Given the description of an element on the screen output the (x, y) to click on. 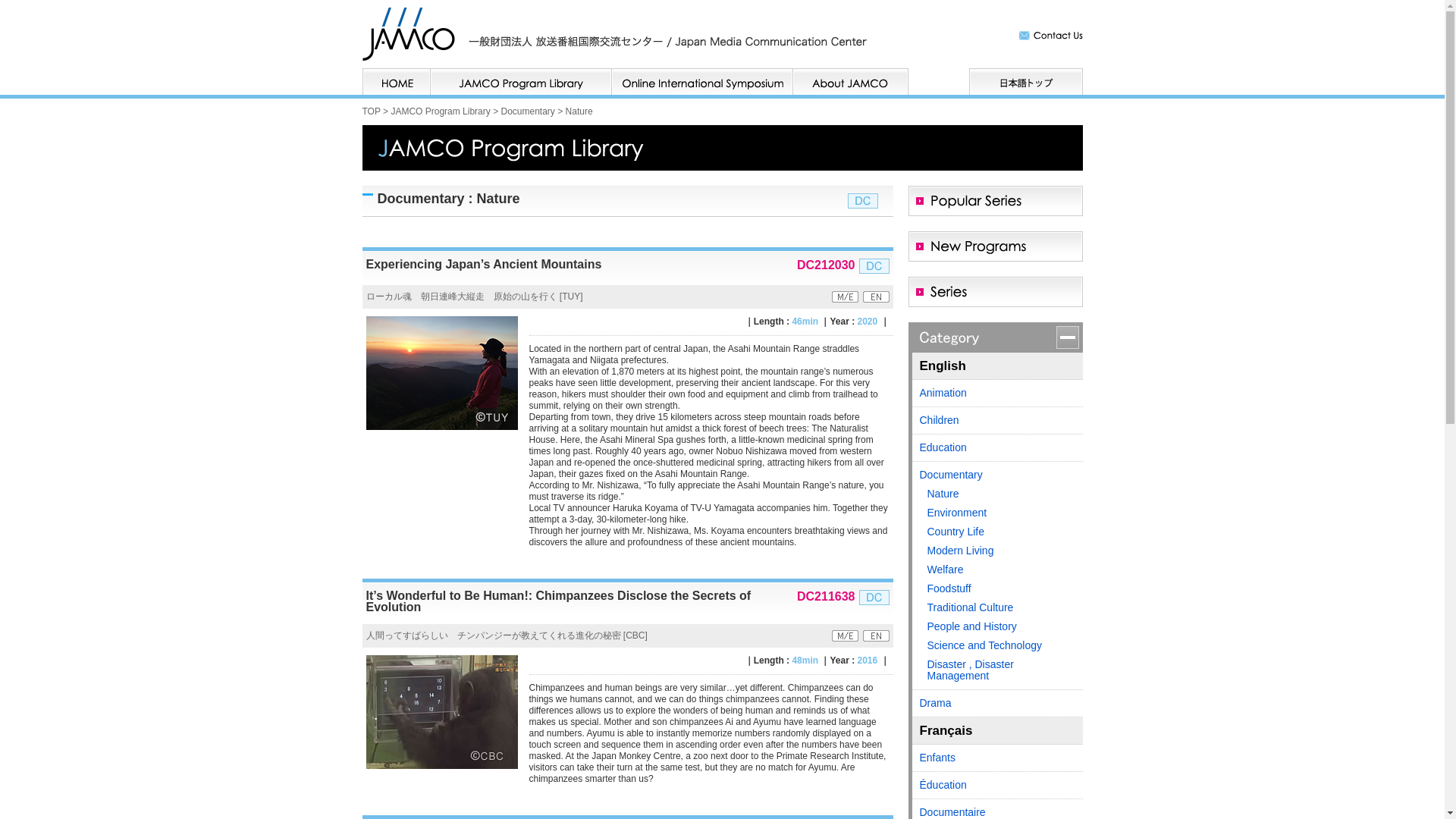
Documentaire (996, 809)
Welfare (999, 573)
Environment (999, 516)
Drama (996, 703)
Documentary (527, 111)
Modern Living (999, 554)
Foodstuff (999, 592)
Education (996, 447)
Traditional Culture (999, 610)
JAMCO Program Library (439, 111)
